Given the description of an element on the screen output the (x, y) to click on. 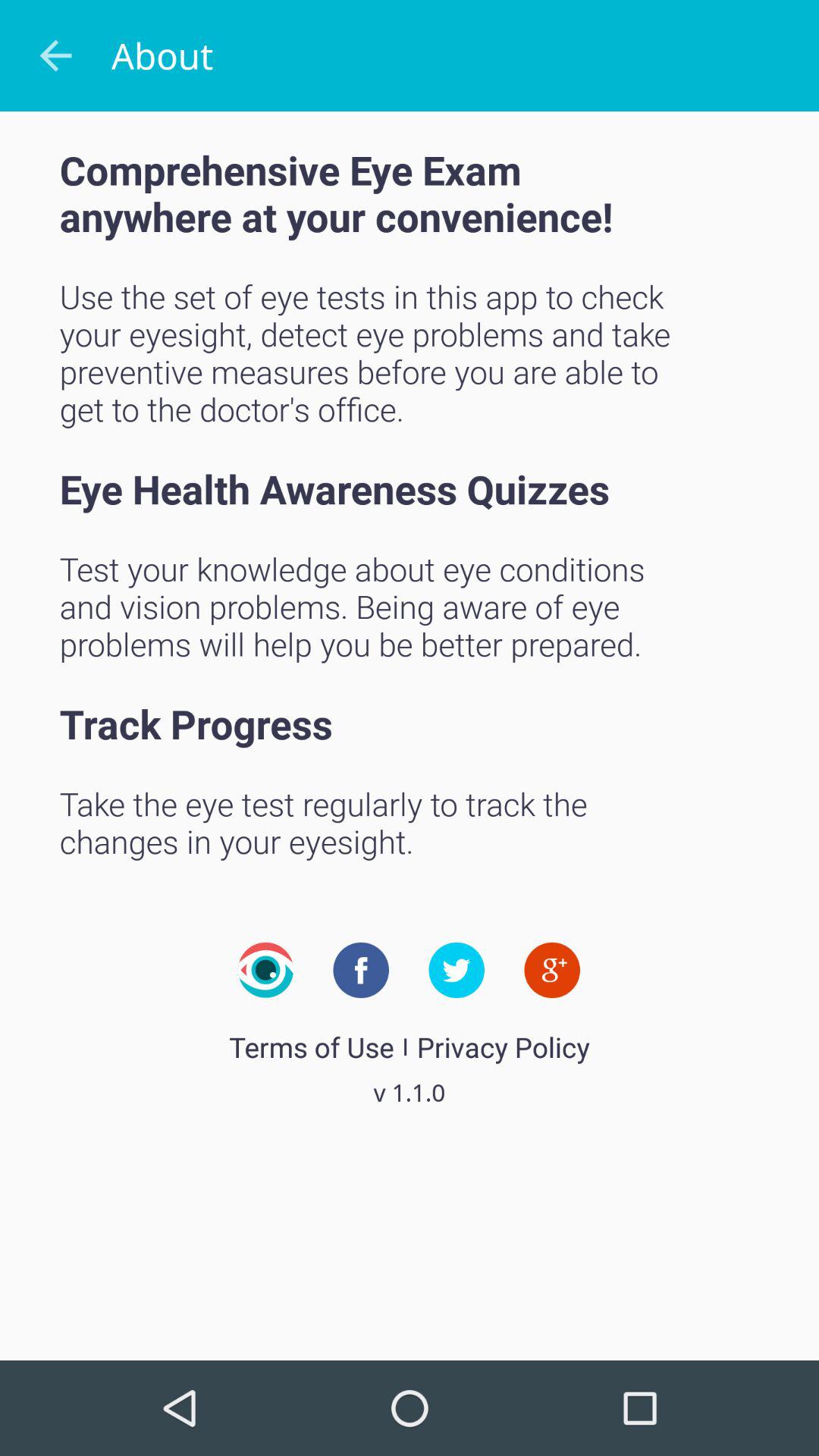
share on google plus (552, 970)
